Given the description of an element on the screen output the (x, y) to click on. 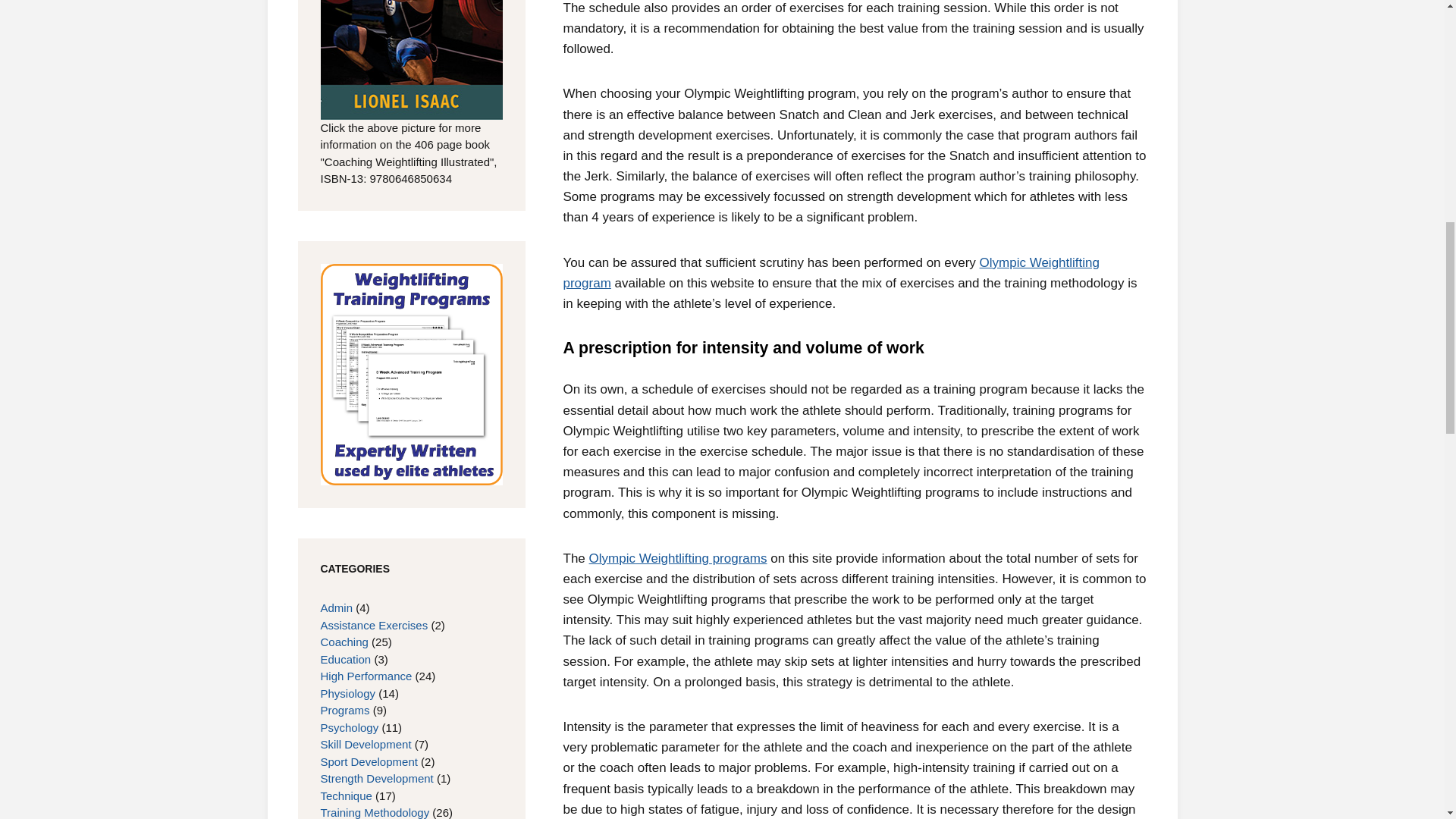
Olympic Weightlifting program (830, 272)
Olympic Weightlifting programs (678, 558)
